Given the description of an element on the screen output the (x, y) to click on. 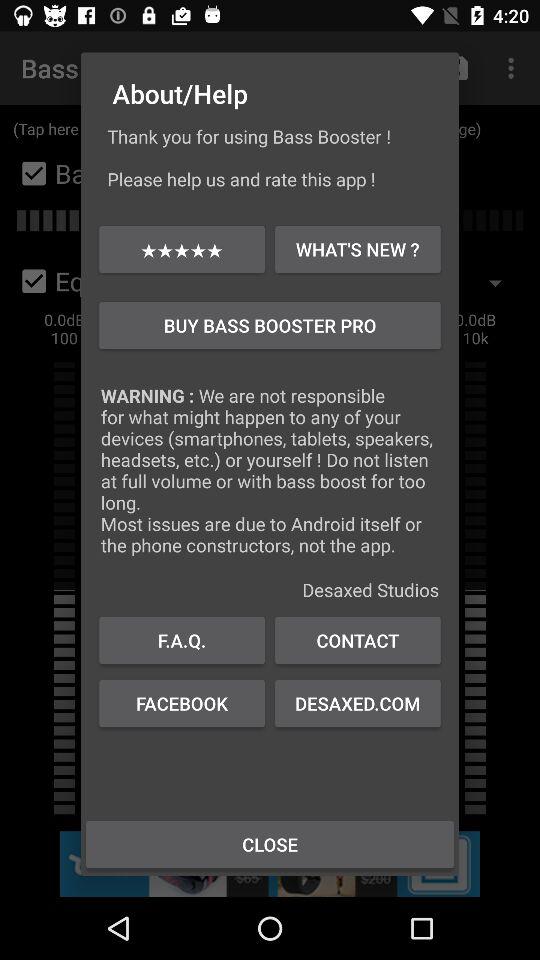
click the icon above the buy bass booster (357, 248)
